Given the description of an element on the screen output the (x, y) to click on. 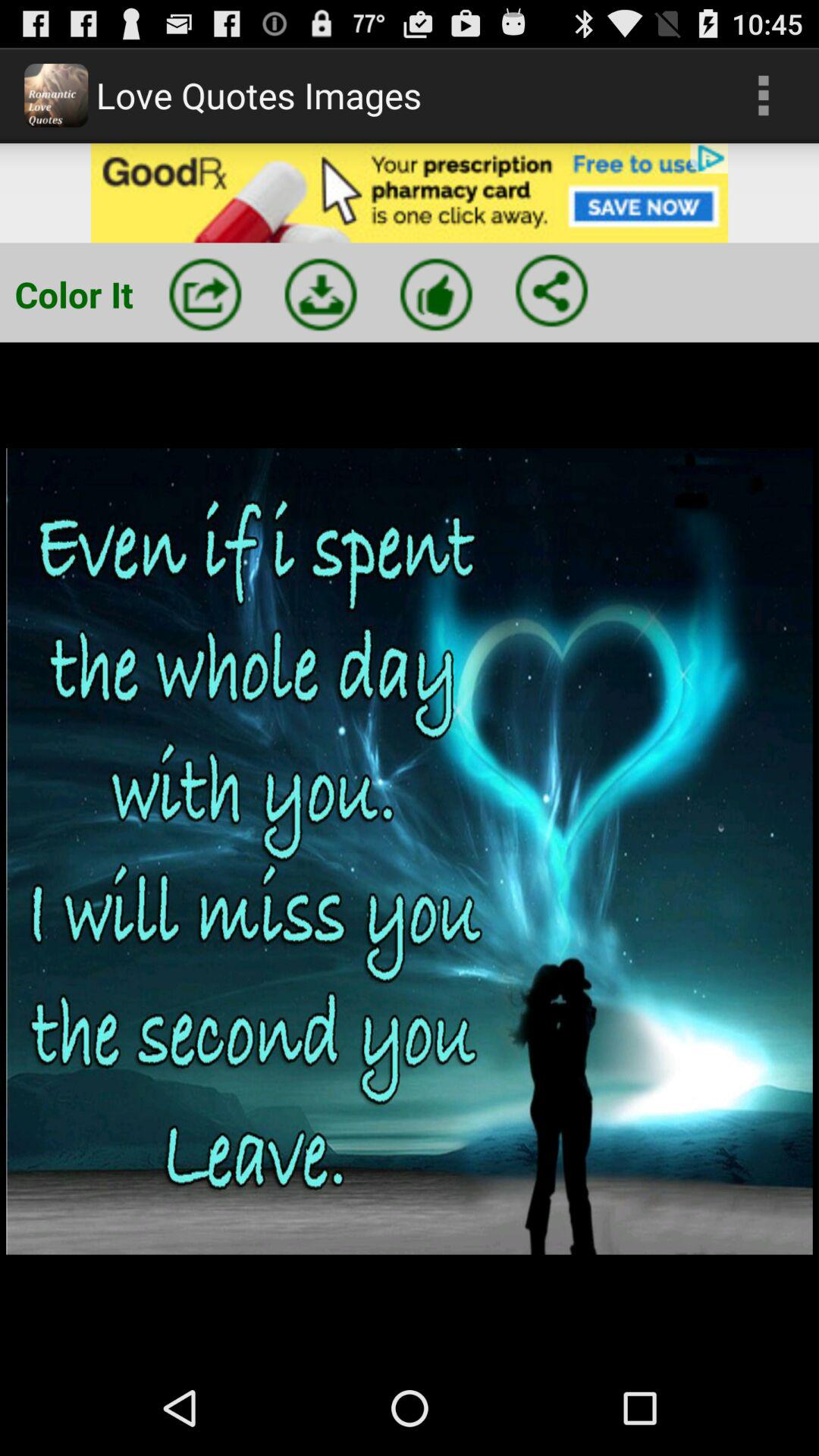
open advertisement (409, 192)
